Given the description of an element on the screen output the (x, y) to click on. 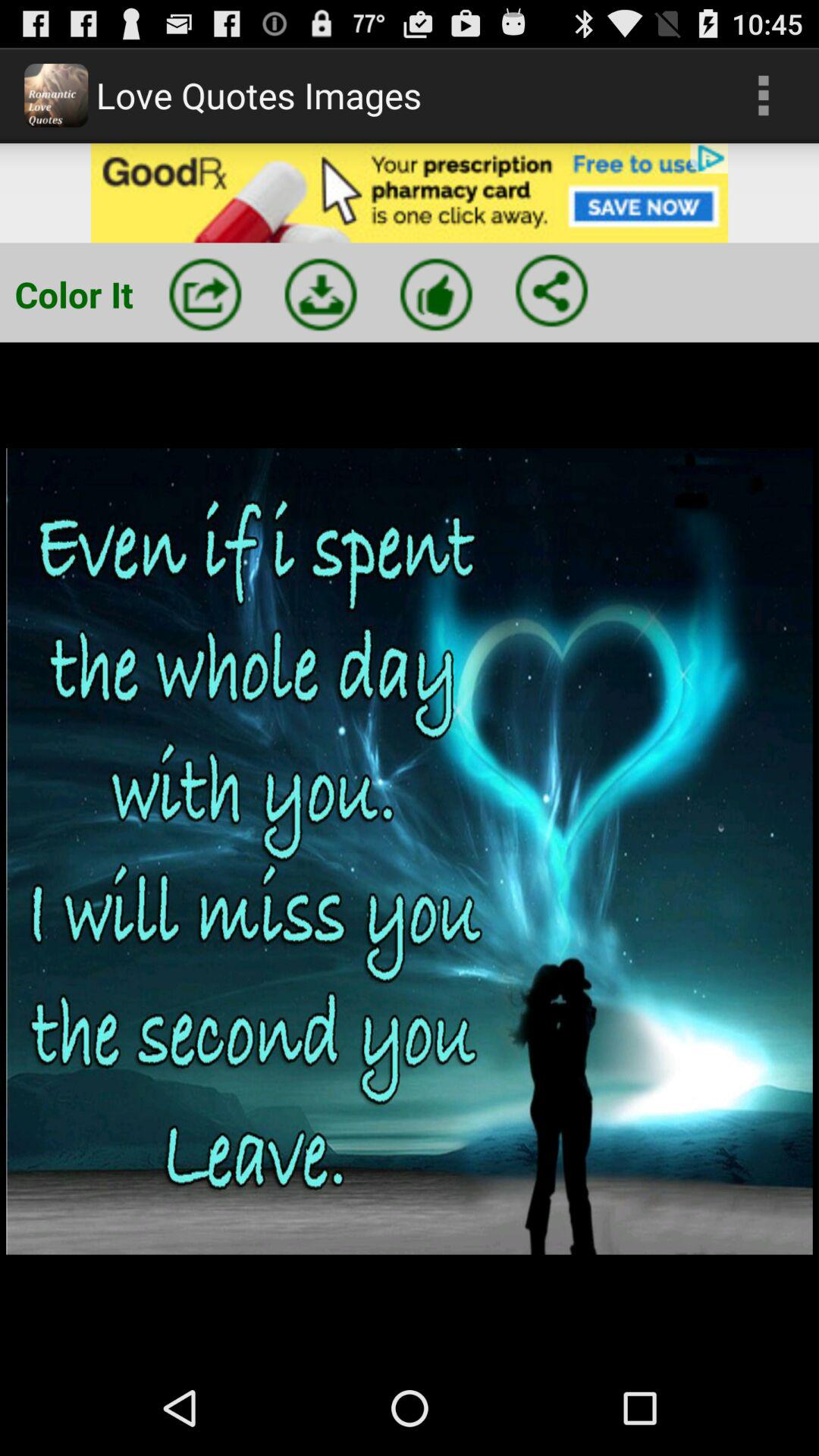
open advertisement (409, 192)
